Given the description of an element on the screen output the (x, y) to click on. 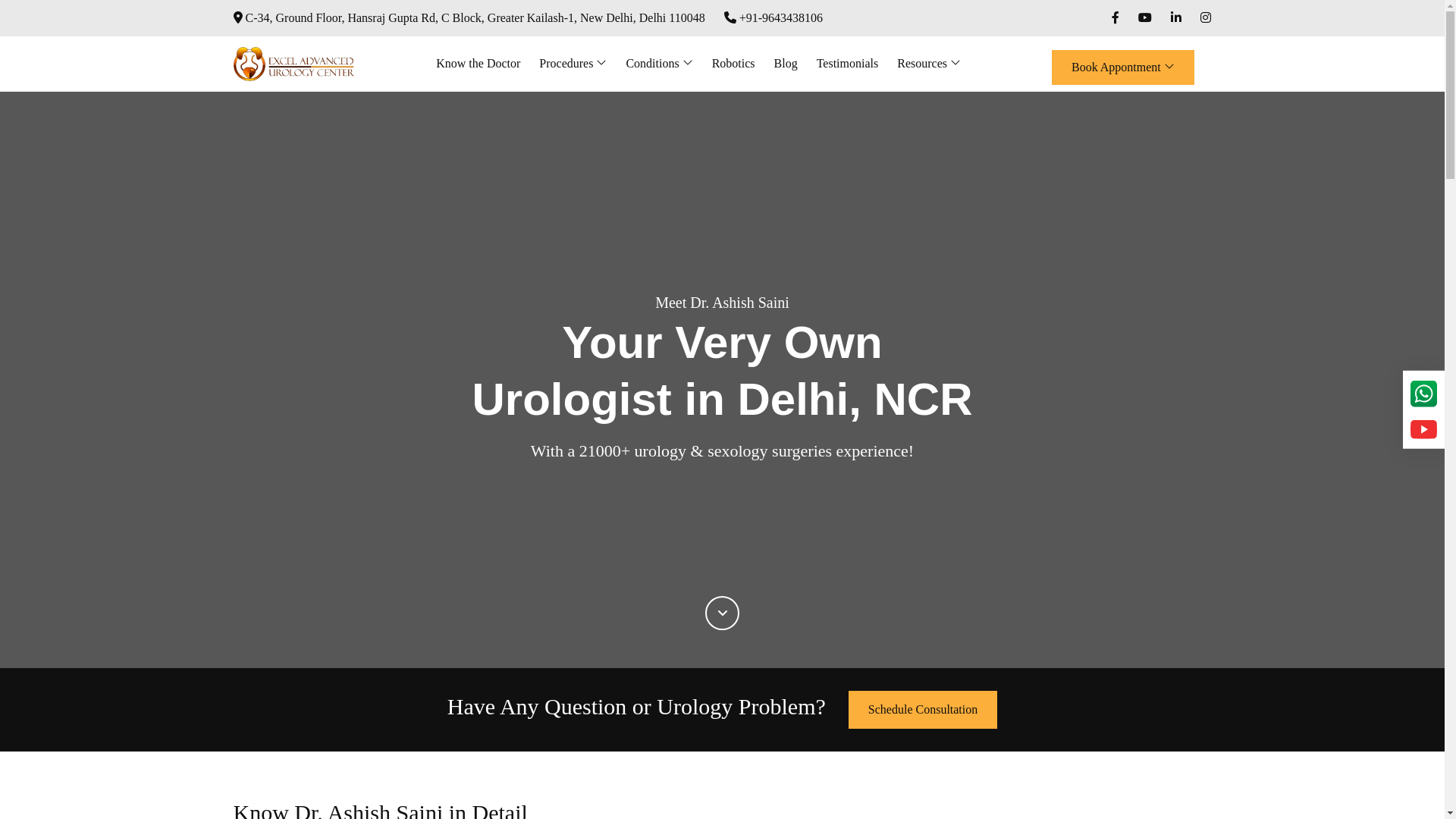
Excel Advanced Urology Center (293, 63)
Know the Doctor (477, 63)
Know the Doctor (477, 63)
Procedures (572, 63)
Get Directions (468, 18)
Conditions (659, 63)
Call Us (772, 18)
Procedures (572, 63)
